Given the description of an element on the screen output the (x, y) to click on. 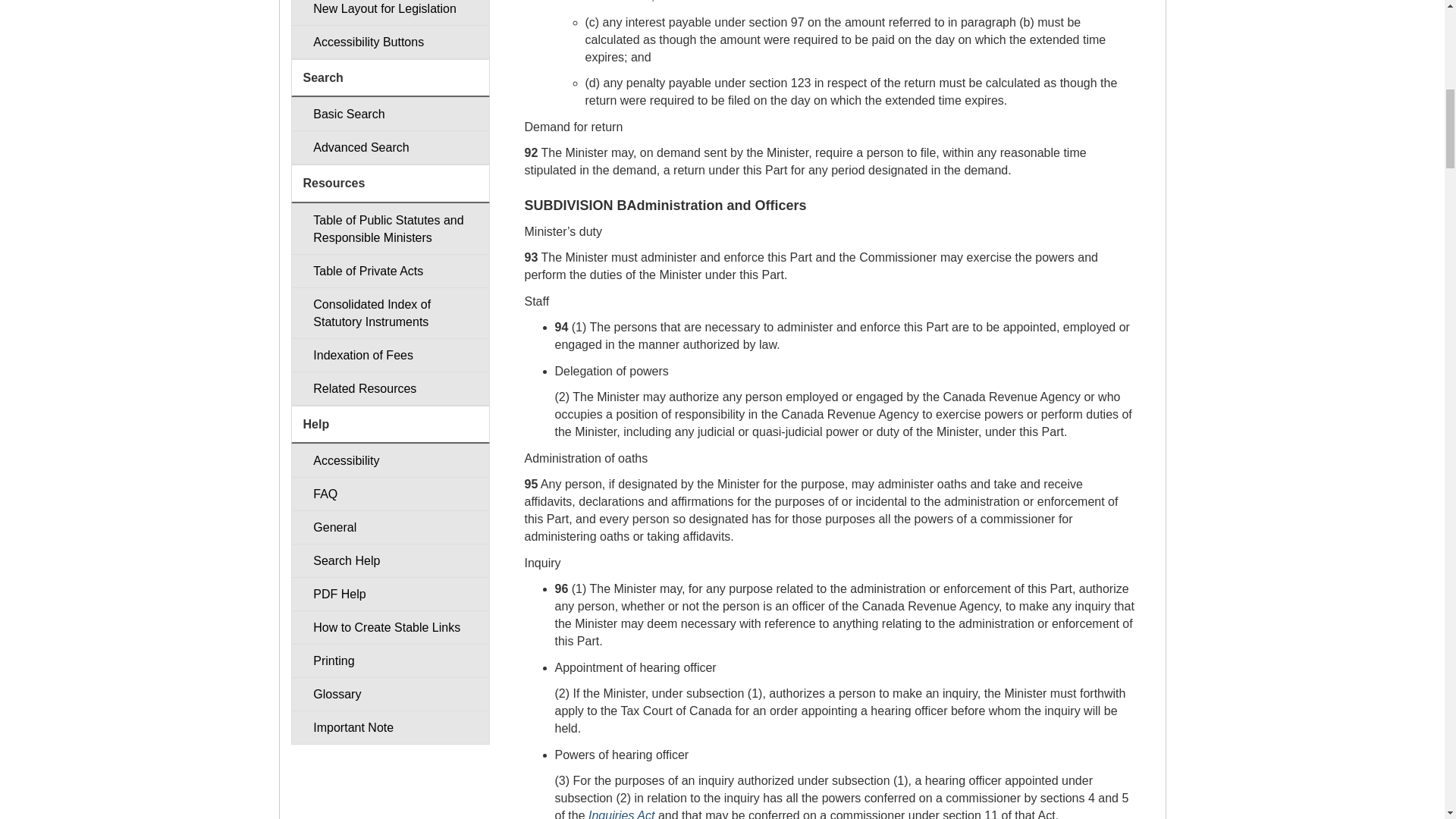
Accessibility Help (390, 460)
Frequently Asked Questions (390, 493)
93 (531, 256)
Inquiries Act (620, 814)
96 (561, 588)
95 (531, 483)
92 (531, 152)
Advanced Search - Justice Laws Website (390, 147)
Search - Justice Laws Website (390, 114)
General Help (390, 527)
